Given the description of an element on the screen output the (x, y) to click on. 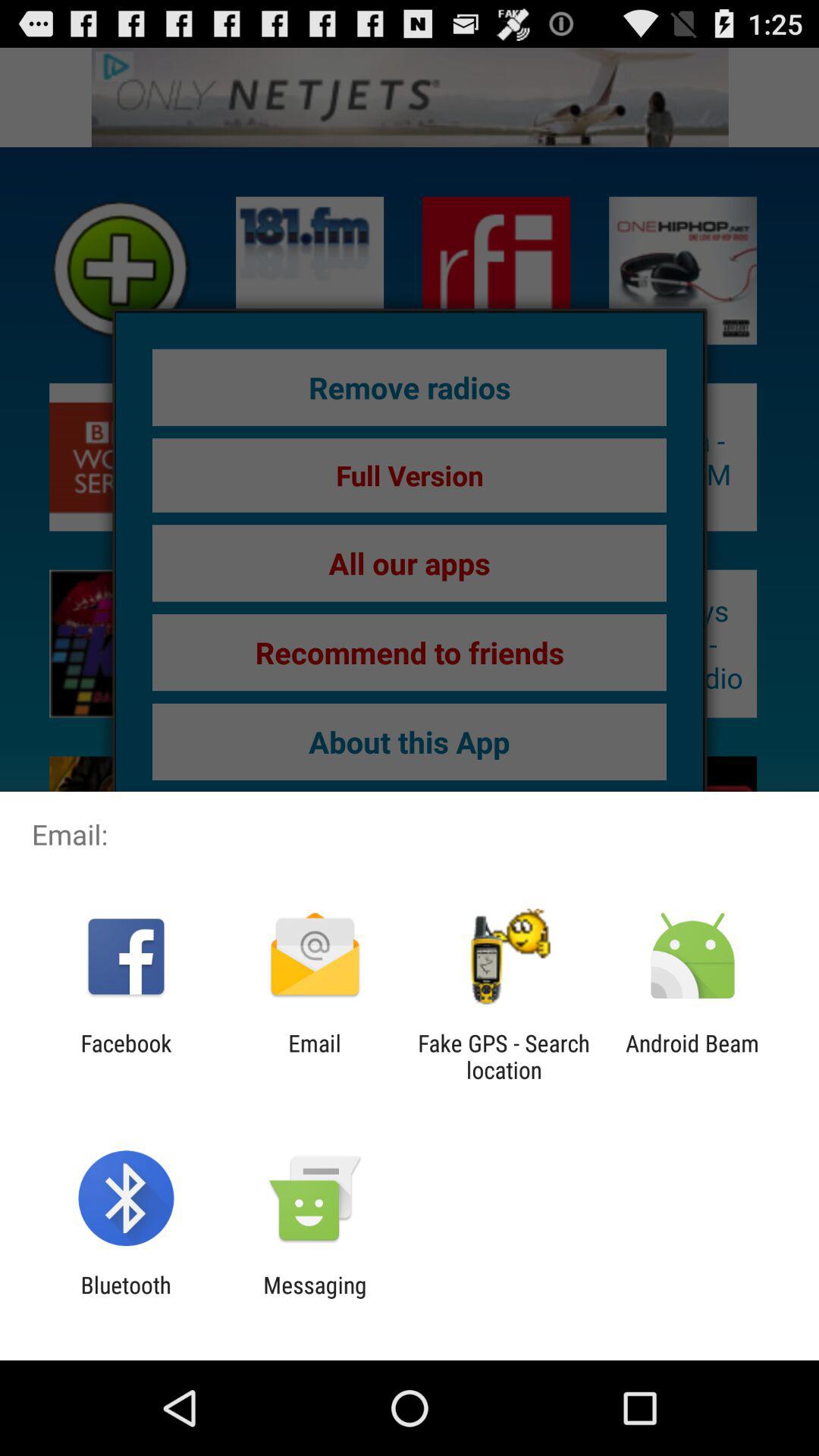
scroll until the fake gps search icon (503, 1056)
